Given the description of an element on the screen output the (x, y) to click on. 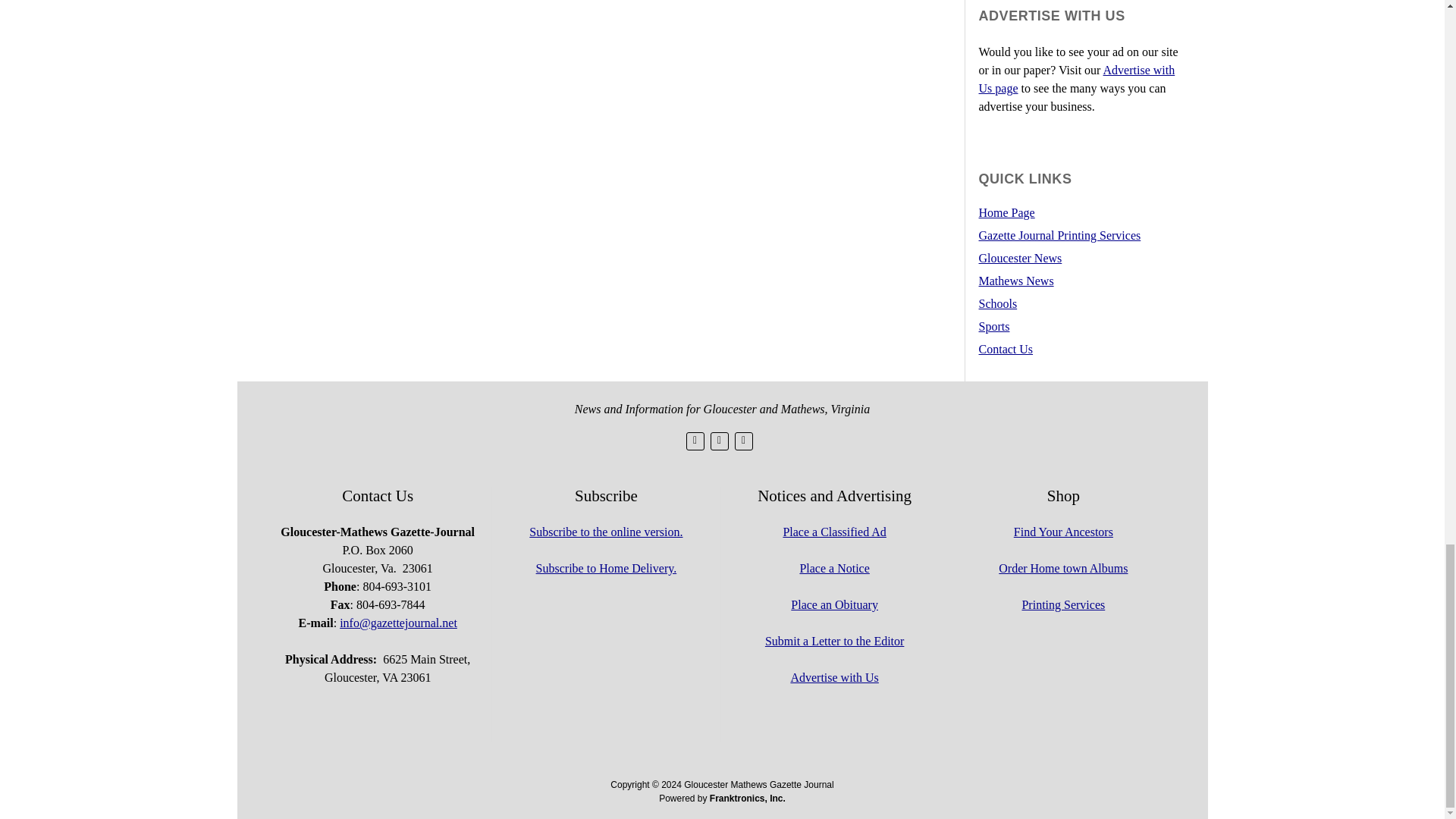
facebook (719, 441)
instagram (742, 441)
twitter (694, 441)
